Given the description of an element on the screen output the (x, y) to click on. 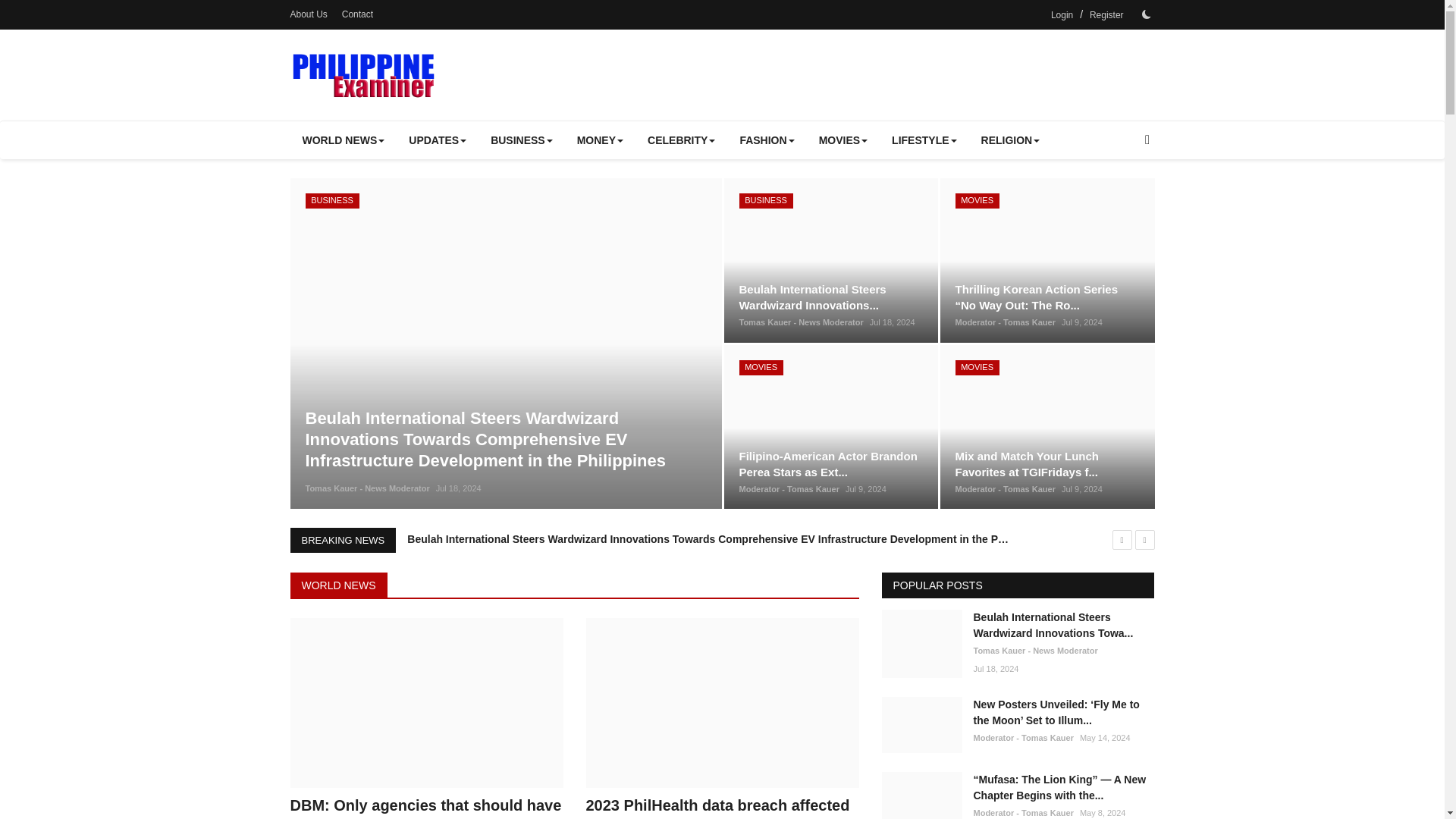
About Us (307, 14)
Login (1062, 15)
Register (1106, 15)
BUSINESS (521, 139)
WORLD NEWS (342, 139)
UPDATES (437, 139)
Contact (357, 14)
